Given the description of an element on the screen output the (x, y) to click on. 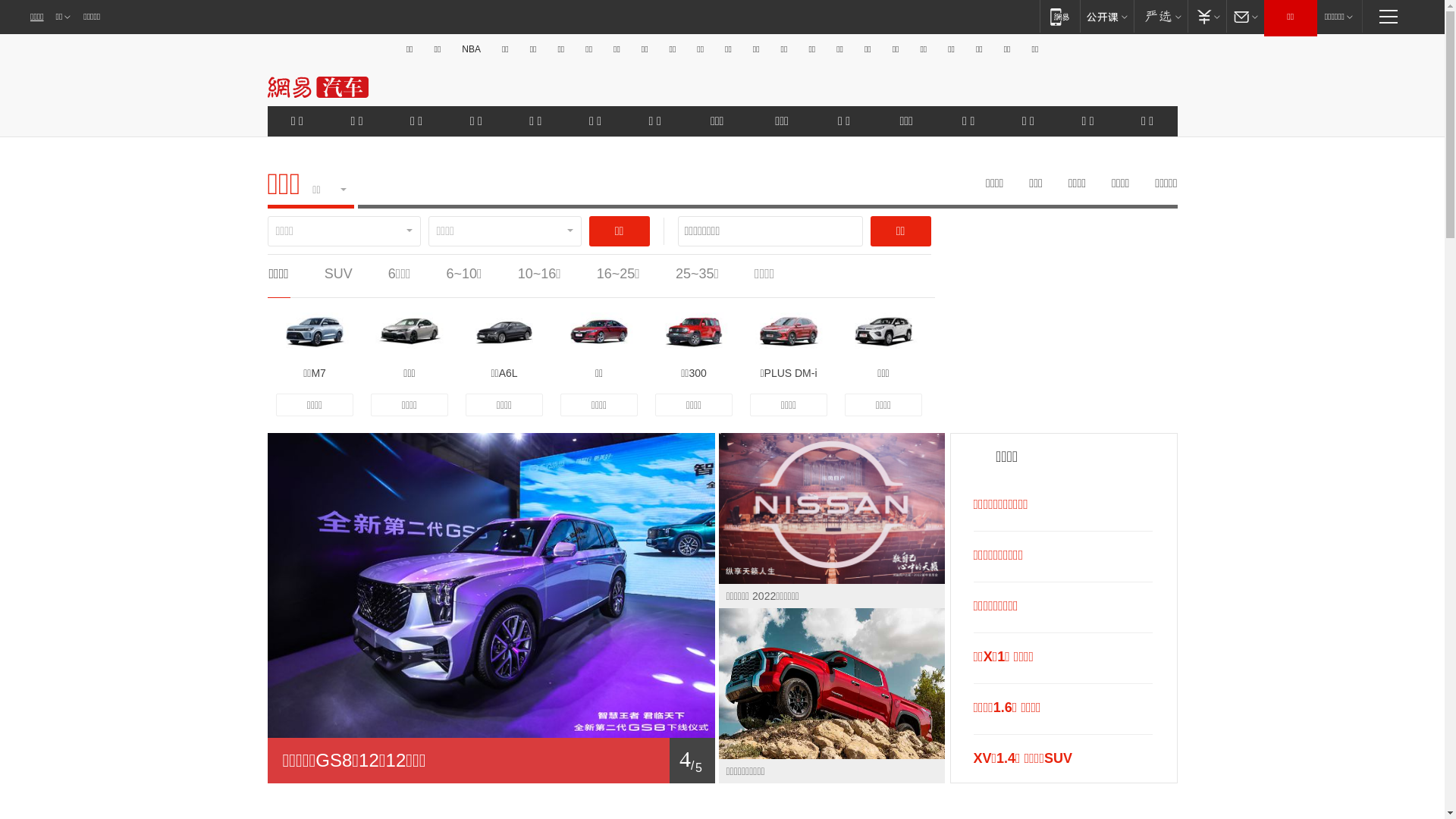
1/ 5 Element type: text (490, 760)
SUV Element type: text (338, 273)
NBA Element type: text (471, 48)
